Given the description of an element on the screen output the (x, y) to click on. 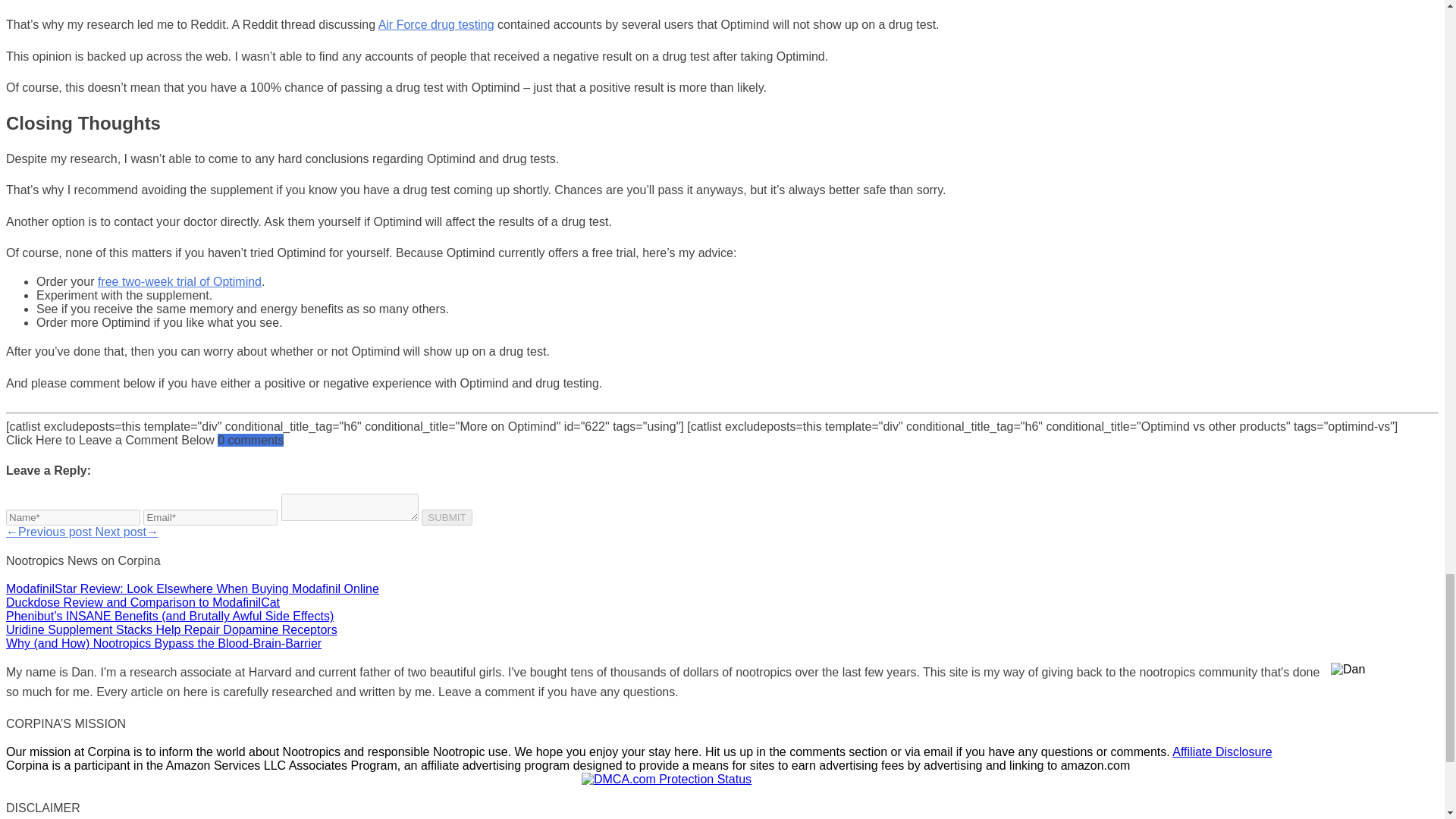
DMCA.com Protection Status (665, 779)
SUBMIT (446, 517)
